Given the description of an element on the screen output the (x, y) to click on. 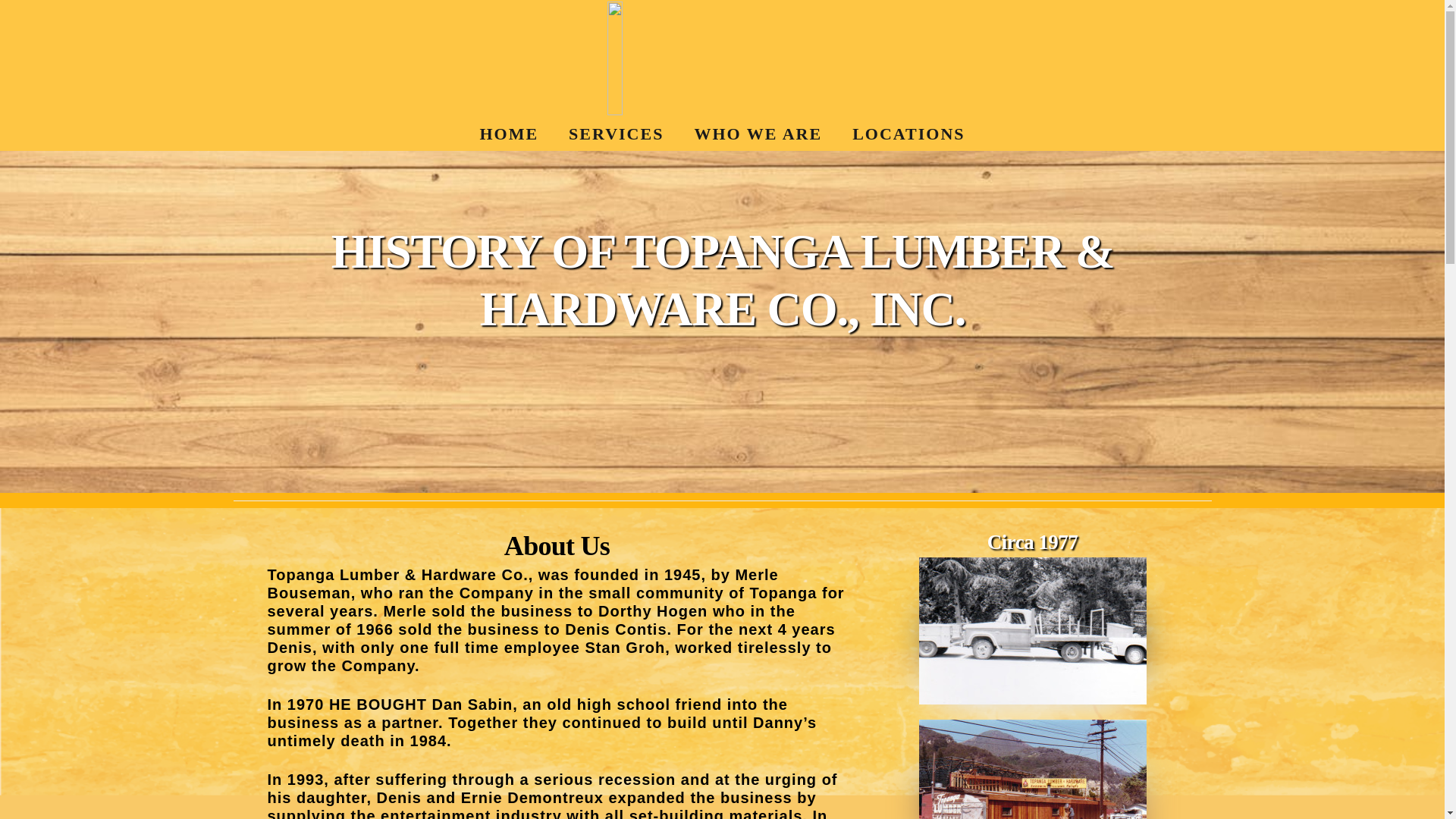
LOCATIONS (908, 133)
WHO WE ARE (757, 133)
WHO WE ARE (1031, 782)
18450 Parthenia Pl, Northridge, CA 91325 (1056, 525)
HOME (508, 133)
310-455-0961 (978, 737)
SERVICES (931, 782)
506 S. Topanga Canyon Blvd. Topanga, CA. 90290 (420, 574)
Web Design by 123 Onlinemedia.com (652, 782)
SERVICES (615, 133)
